Given the description of an element on the screen output the (x, y) to click on. 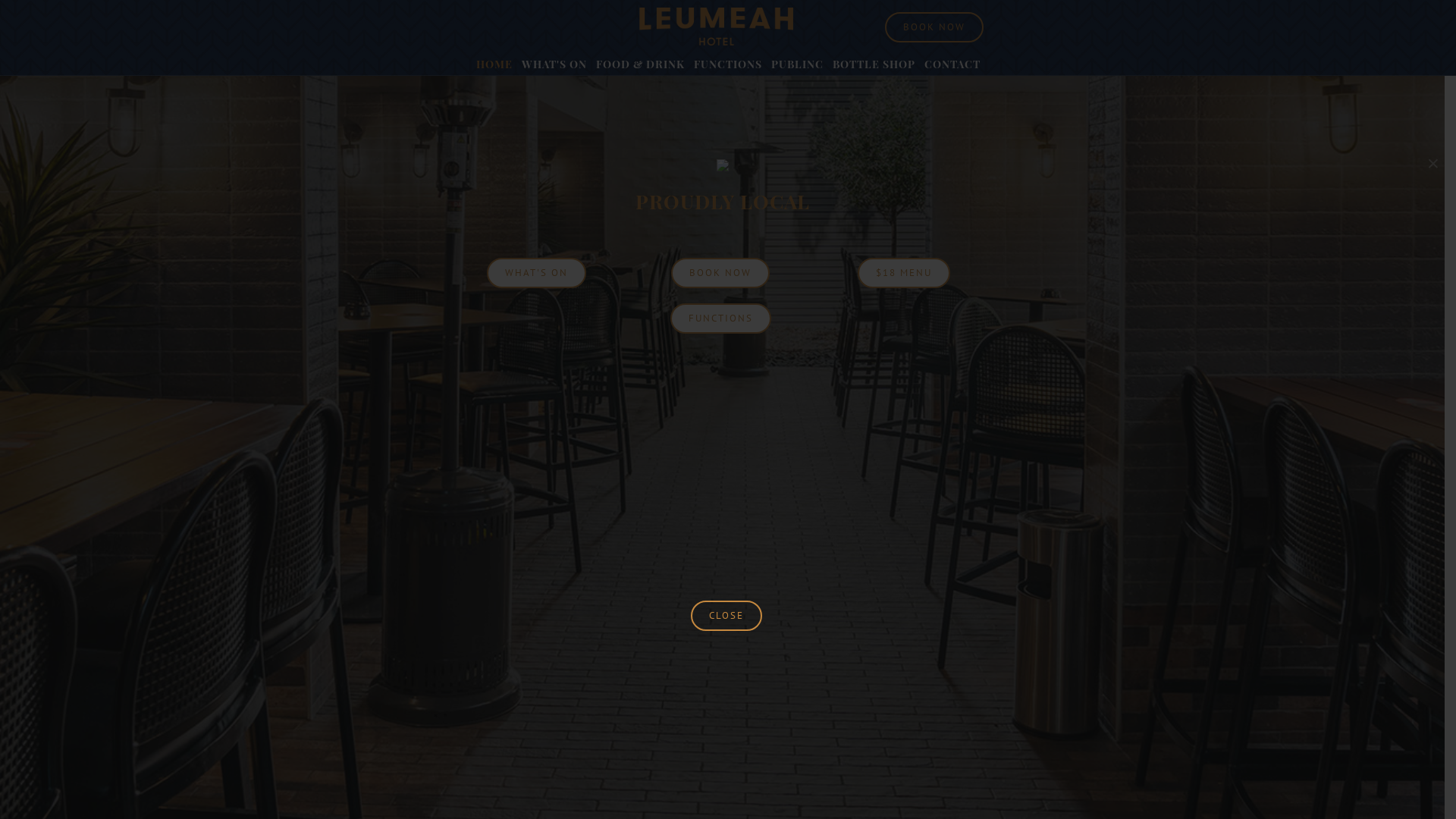
CONTACT Element type: text (952, 64)
BOTTLE SHOP Element type: text (873, 64)
WHAT'S ON Element type: text (536, 272)
BOOK NOW Element type: text (720, 272)
HOME Element type: text (493, 64)
$18 MENU Element type: text (903, 272)
FUNCTIONS Element type: text (727, 64)
FUNCTIONS Element type: text (720, 318)
BOOK NOW Element type: text (933, 27)
WHAT'S ON Element type: text (553, 64)
CLOSE Element type: text (725, 615)
FOOD & DRINK Element type: text (639, 64)
PUBLINC Element type: text (797, 64)
